Given the description of an element on the screen output the (x, y) to click on. 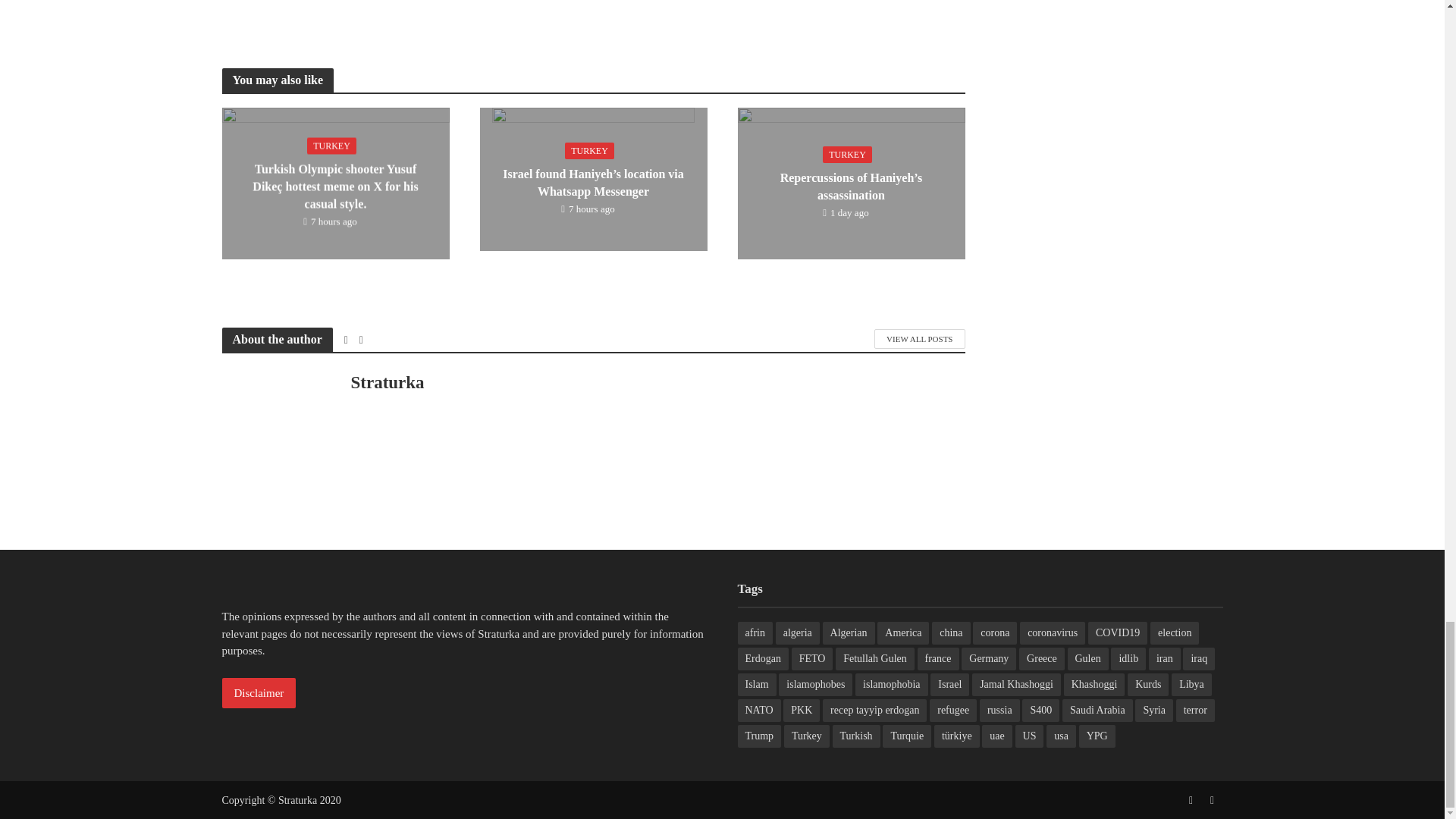
TURKEY (331, 146)
VIEW ALL POSTS (919, 338)
TURKEY (589, 150)
TURKEY (847, 154)
